Given the description of an element on the screen output the (x, y) to click on. 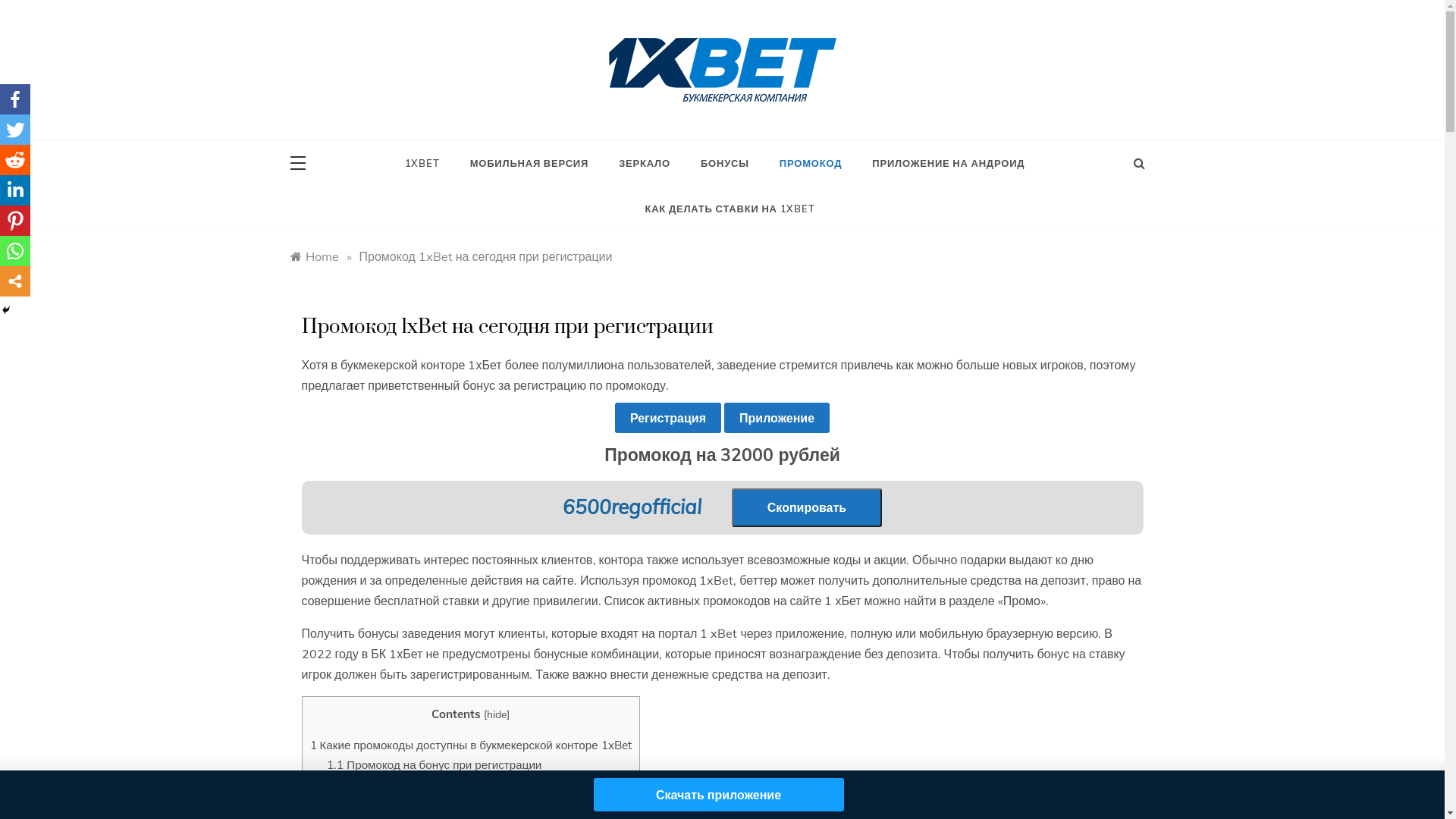
Whatsapp Element type: hover (15, 250)
Facebook Element type: hover (15, 99)
Home Element type: text (313, 255)
1xbet Element type: text (635, 116)
1XBET Element type: text (429, 162)
Reddit Element type: hover (15, 159)
More Element type: hover (15, 281)
Hide Element type: hover (6, 310)
Twitter Element type: hover (15, 129)
hide Element type: text (496, 713)
Linkedin Element type: hover (15, 190)
Pinterest Element type: hover (15, 220)
